Given the description of an element on the screen output the (x, y) to click on. 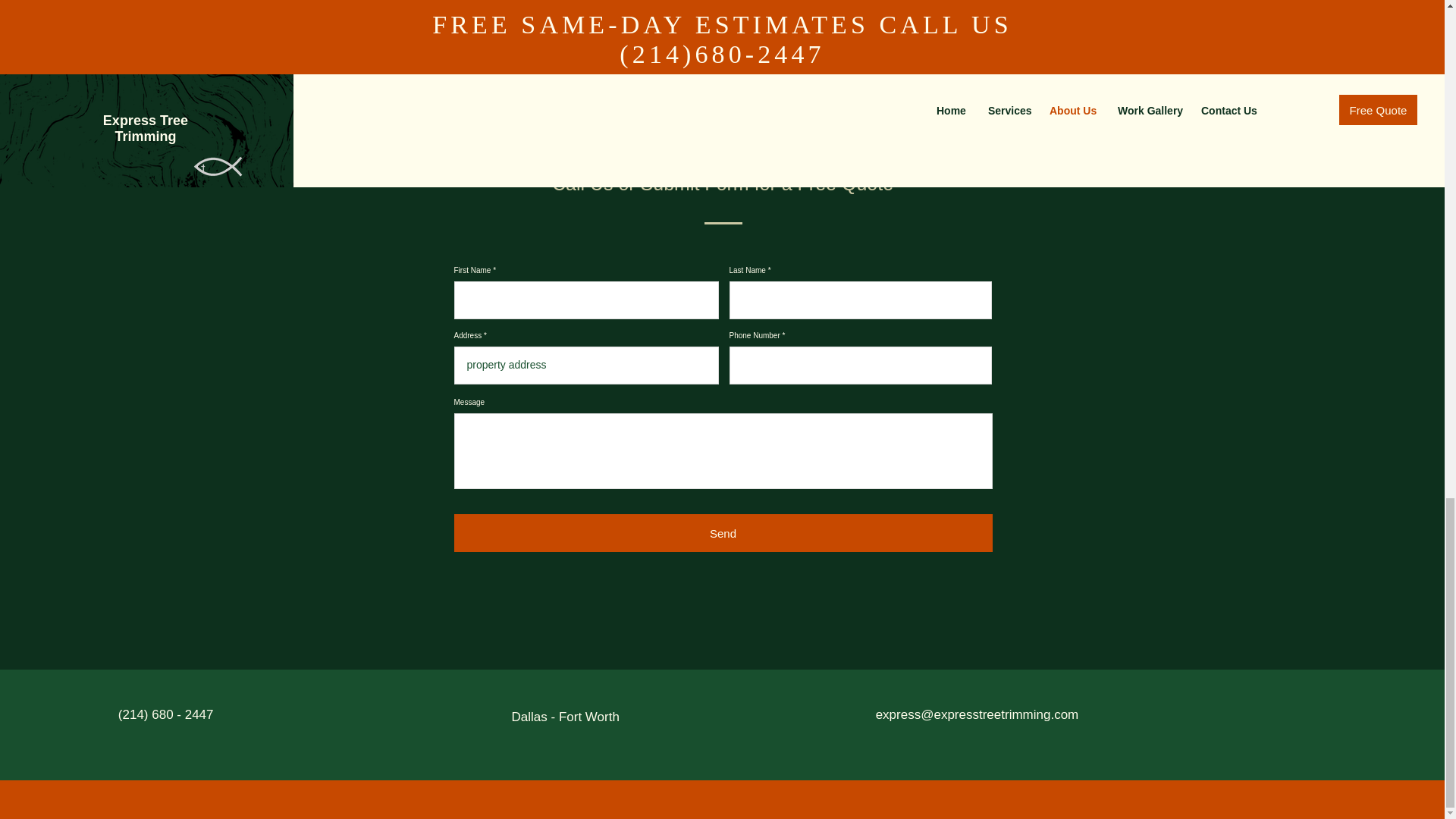
Send (721, 533)
